Given the description of an element on the screen output the (x, y) to click on. 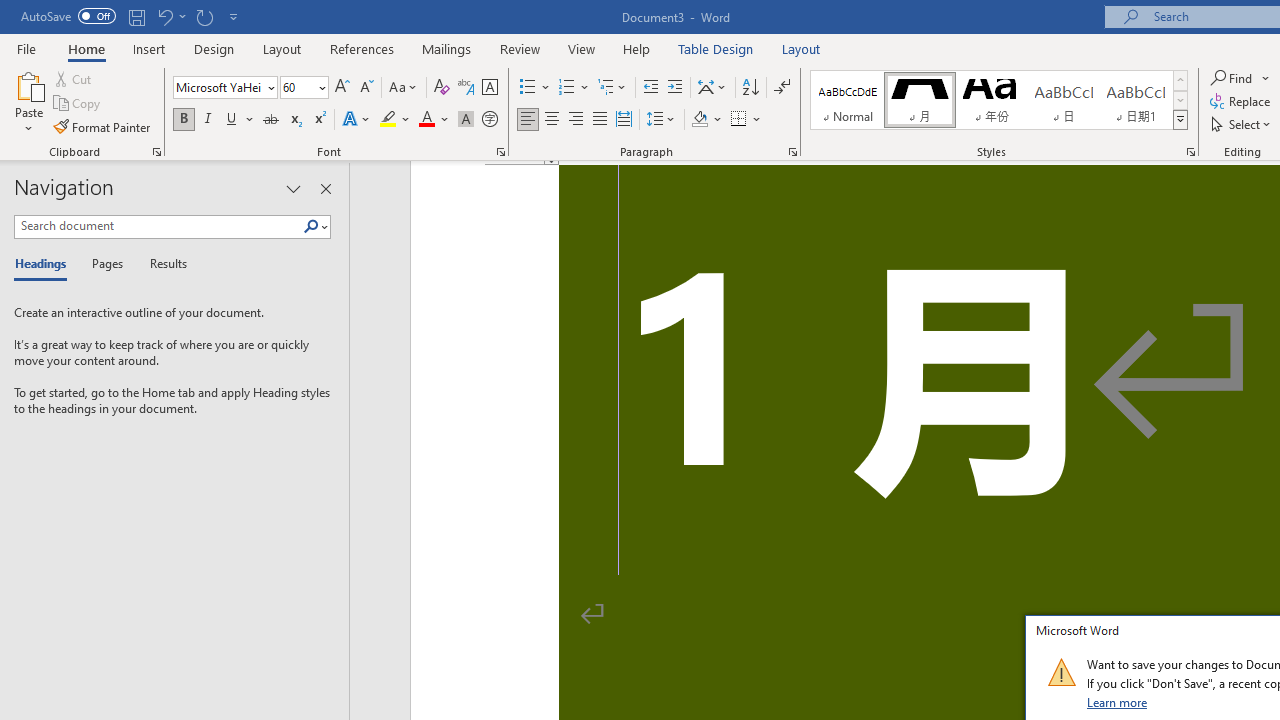
Undo Increase Indent (164, 15)
Undo Increase Indent (170, 15)
